Given the description of an element on the screen output the (x, y) to click on. 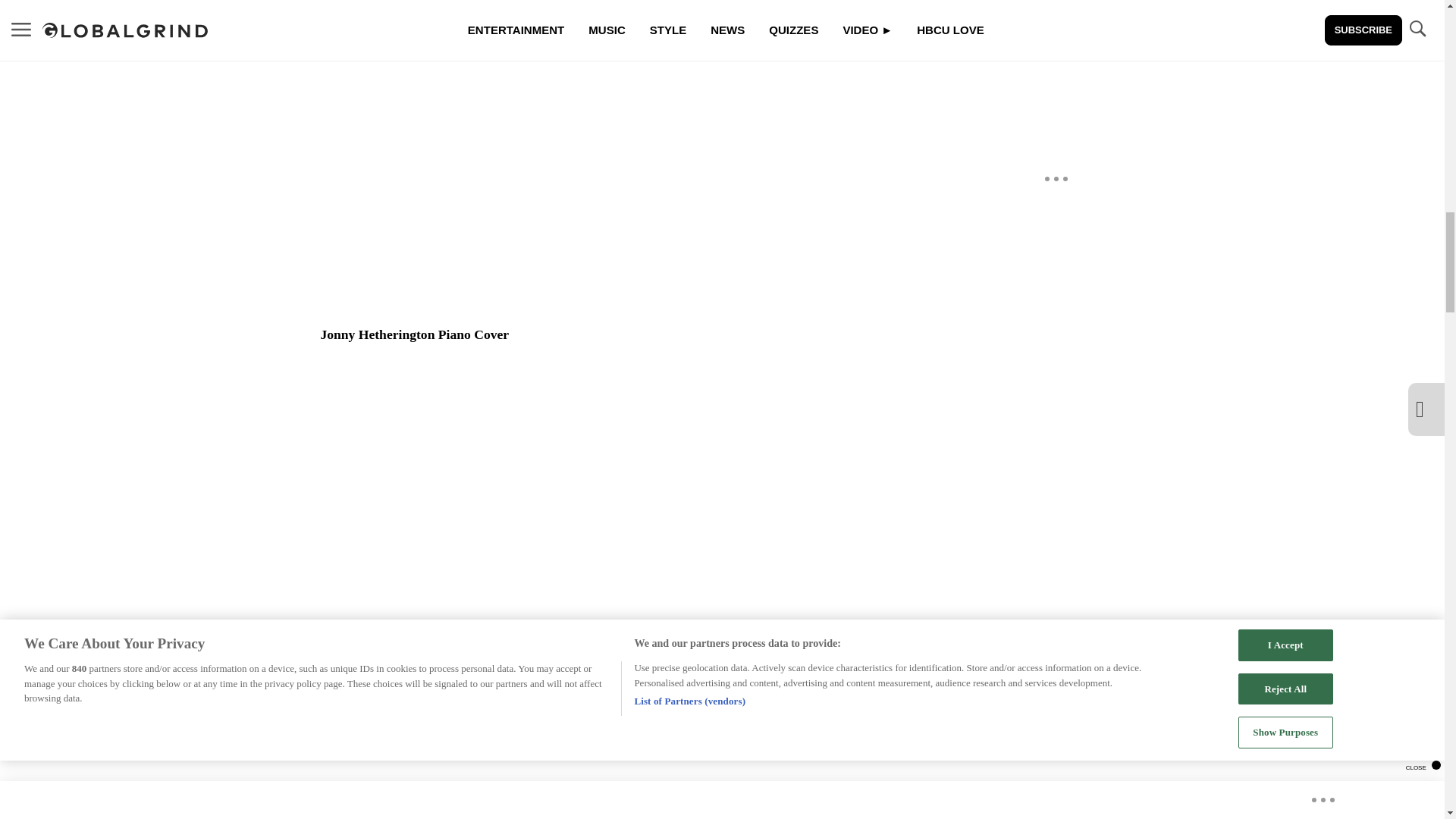
Embedded content (609, 756)
